Given the description of an element on the screen output the (x, y) to click on. 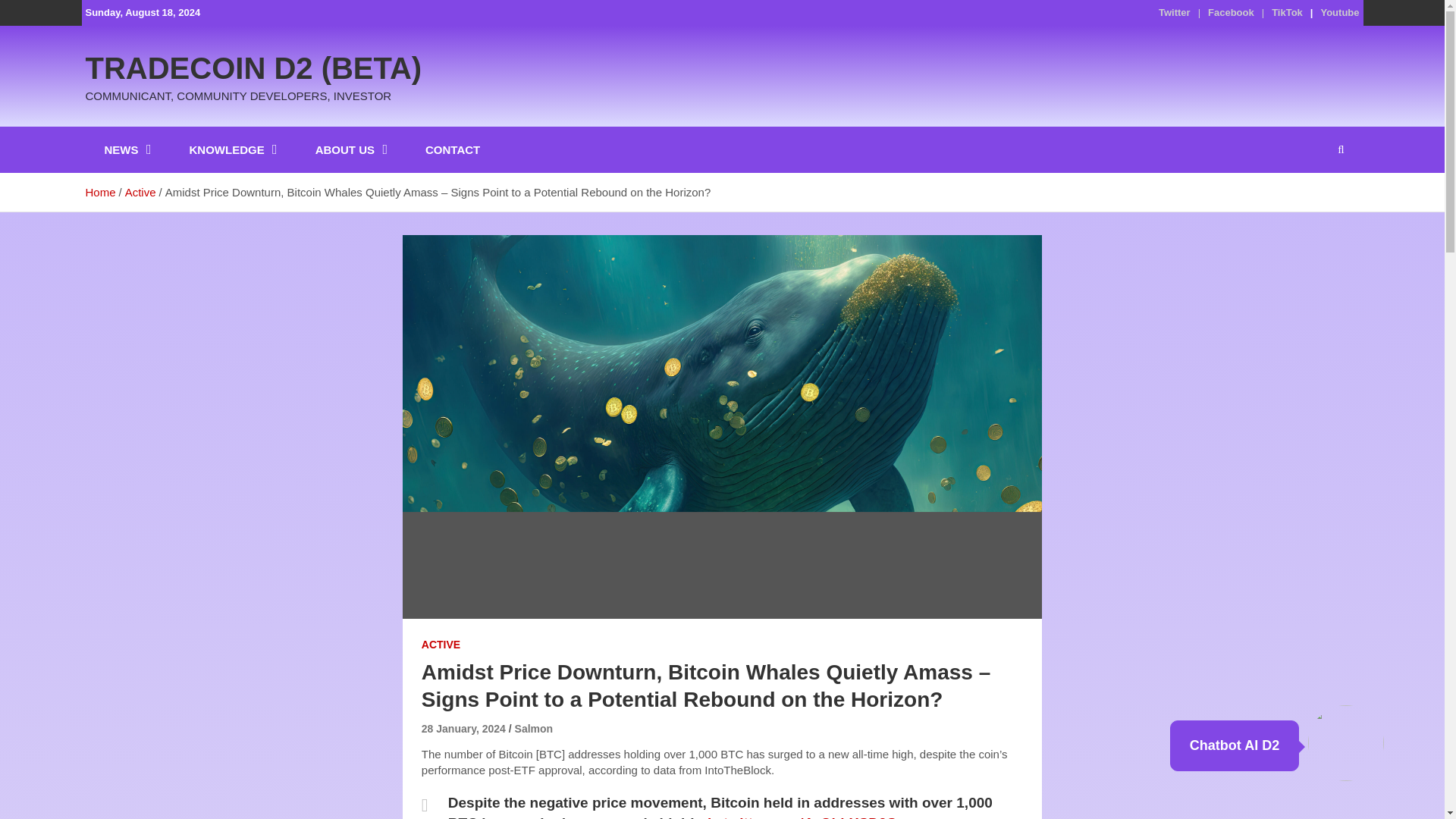
Home (99, 192)
28 January, 2024 (463, 728)
KNOWLEDGE (233, 149)
ABOUT US (351, 149)
NEWS (127, 149)
Active (140, 192)
ACTIVE (441, 645)
CONTACT (452, 149)
Youtube (1339, 12)
Twitter (1174, 12)
